Given the description of an element on the screen output the (x, y) to click on. 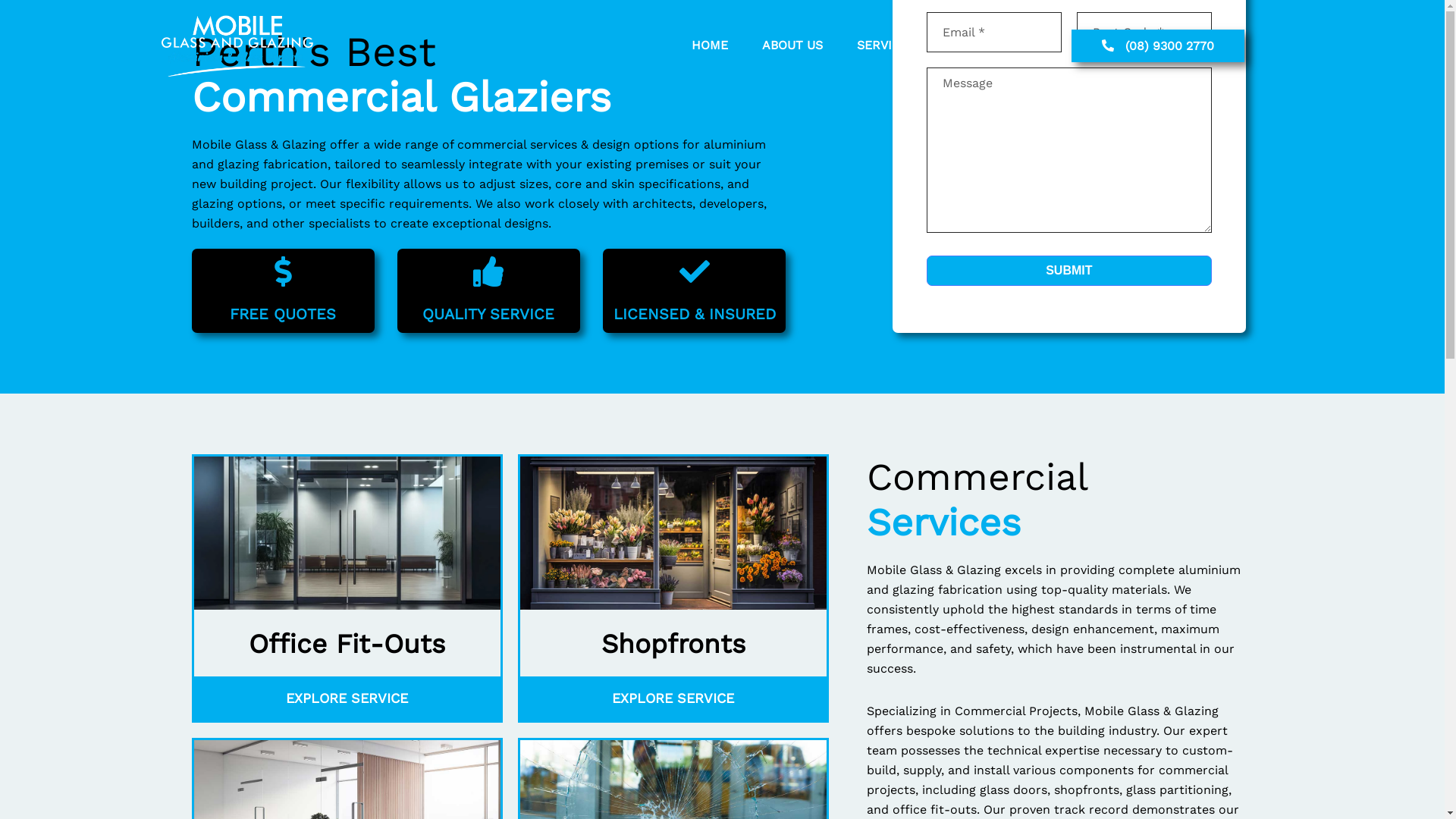
HOME Element type: text (691, 45)
SUBMIT Element type: text (1069, 270)
CONTACT Element type: text (975, 45)
EXPLORE SERVICE Element type: text (673, 698)
EXPLORE SERVICE Element type: text (347, 698)
ABOUT US Element type: text (775, 45)
mobile glass 2 Element type: hover (236, 45)
(08) 9300 2770 Element type: text (1157, 45)
SERVICES Element type: text (875, 45)
